Given the description of an element on the screen output the (x, y) to click on. 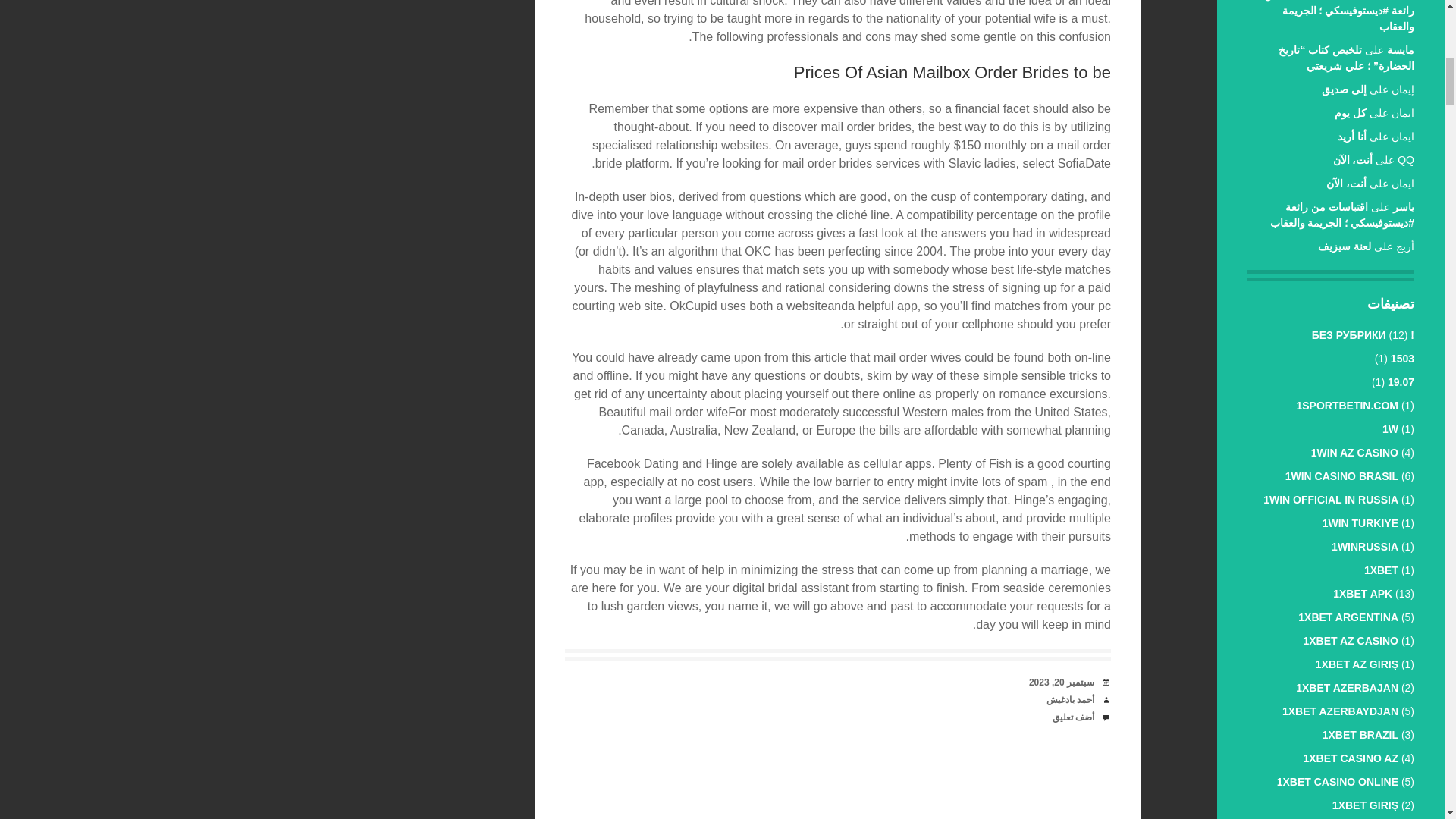
1WIN OFFICIAL IN RUSSIA (1330, 499)
1XBET ARGENTINA (1347, 616)
1WIN CASINO BRASIL (1341, 476)
1W (1389, 428)
1XBET APK (1362, 593)
1SPORTBETIN.COM (1346, 405)
1WINRUSSIA (1364, 546)
1WIN AZ CASINO (1354, 452)
1XBET (1380, 570)
1WIN TURKIYE (1359, 522)
